Given the description of an element on the screen output the (x, y) to click on. 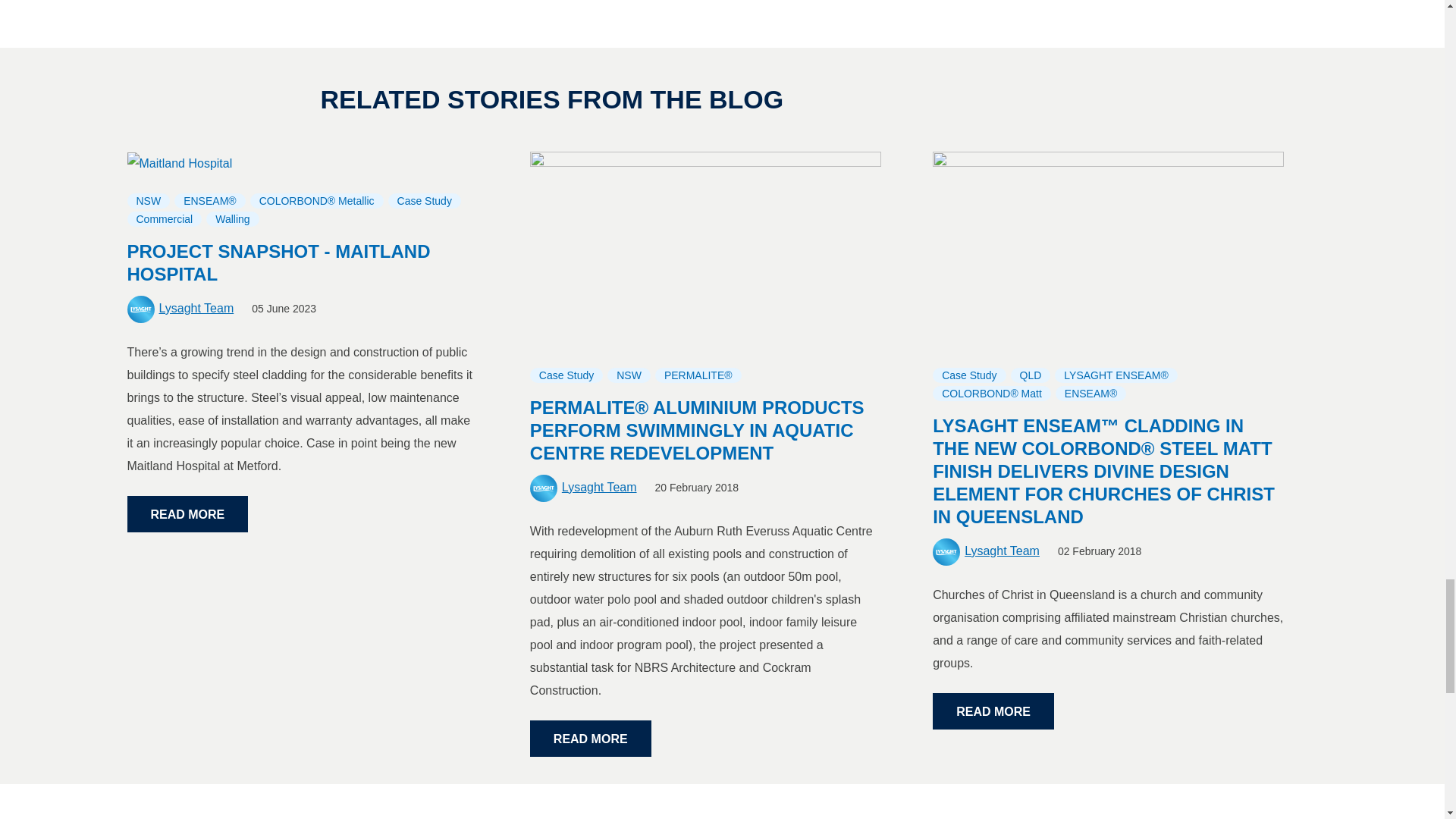
View user profile. (599, 487)
View user profile. (1001, 551)
View user profile. (196, 308)
